Given the description of an element on the screen output the (x, y) to click on. 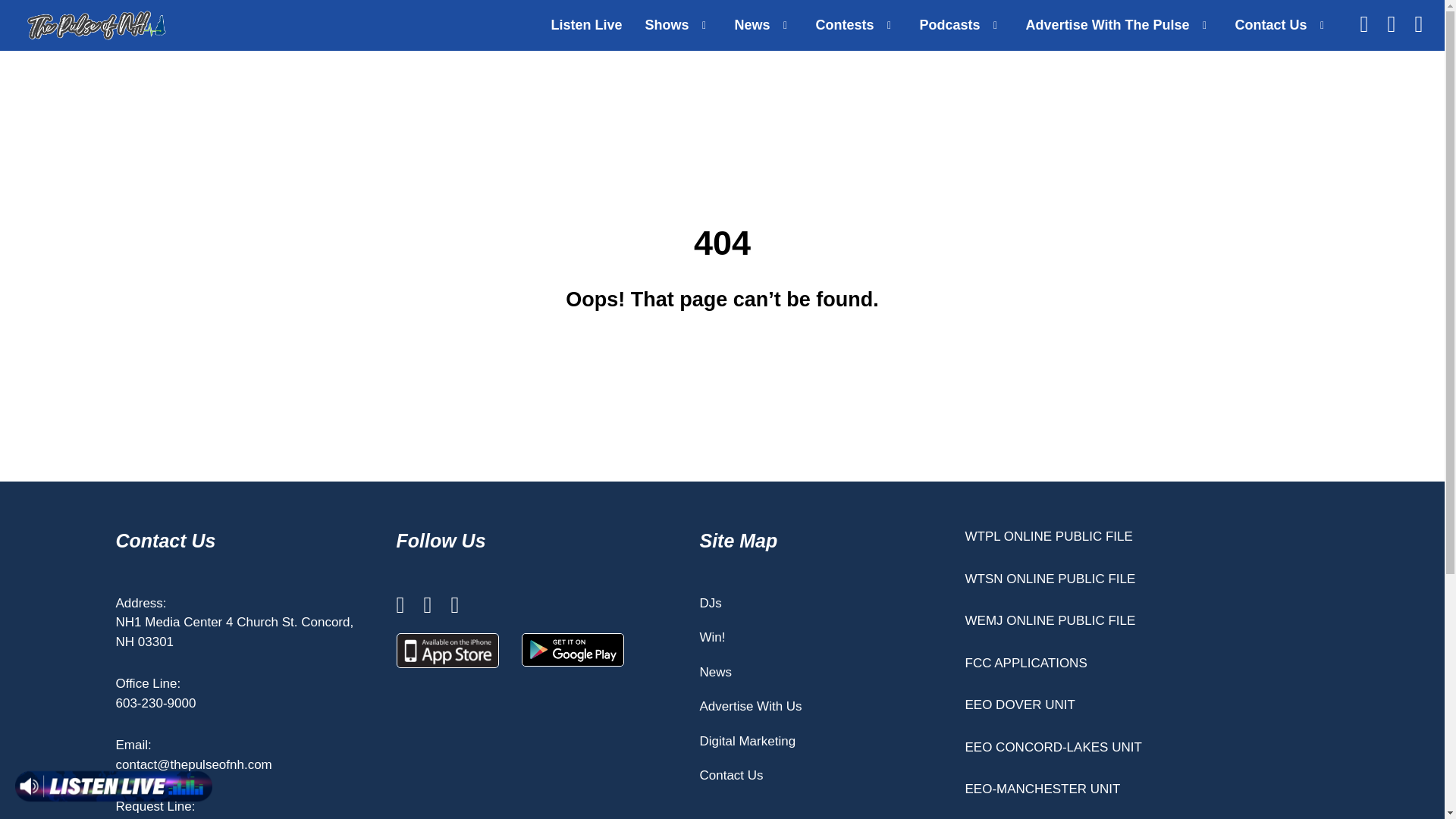
App Store (447, 650)
